Given the description of an element on the screen output the (x, y) to click on. 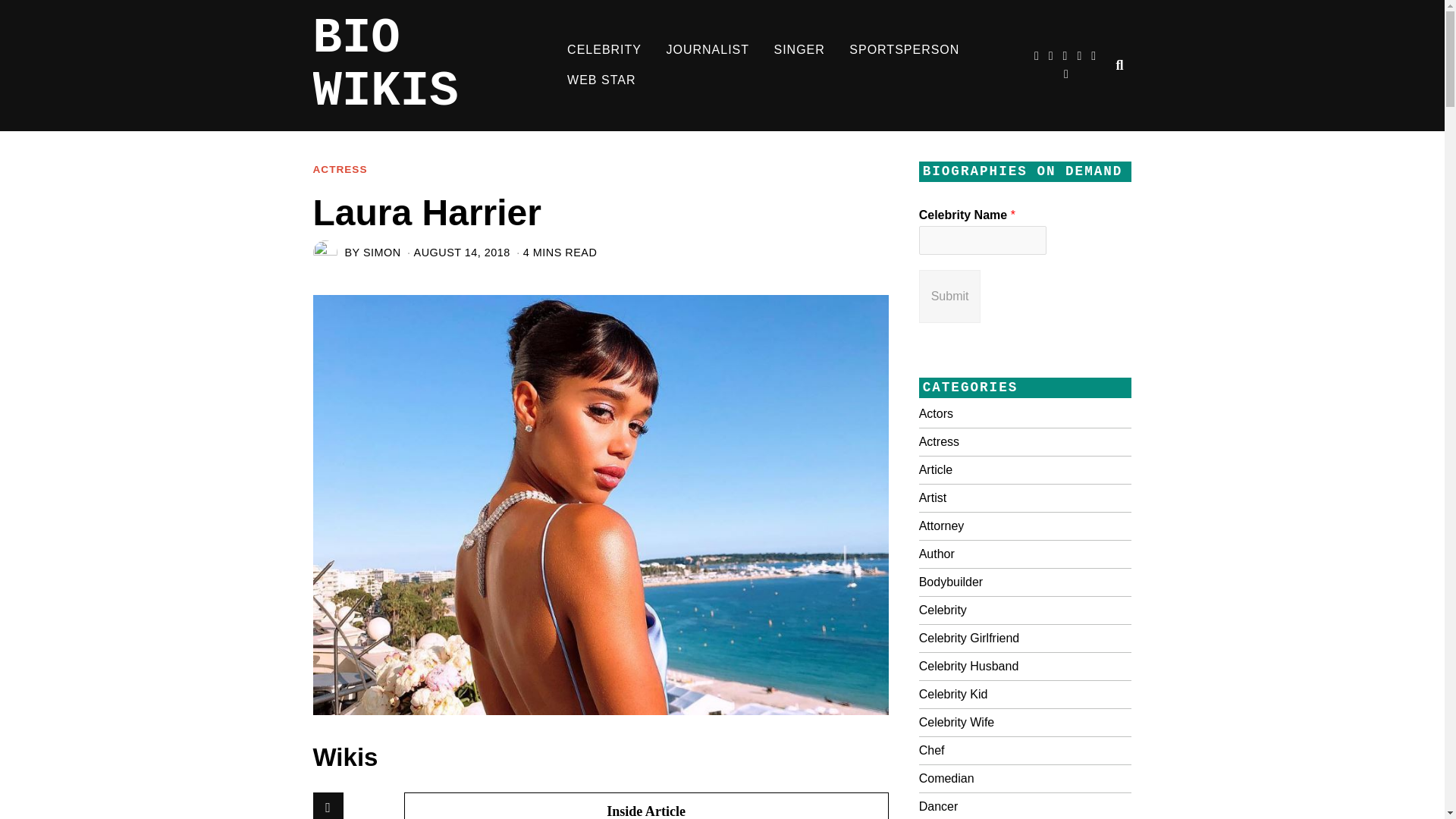
SPORTSPERSON (903, 50)
Facebook (327, 805)
WEB STAR (601, 80)
BIO WIKIS (434, 65)
SIMON (381, 252)
CELEBRITY (604, 50)
SINGER (798, 50)
JOURNALIST (707, 50)
ACTRESS (339, 169)
